Given the description of an element on the screen output the (x, y) to click on. 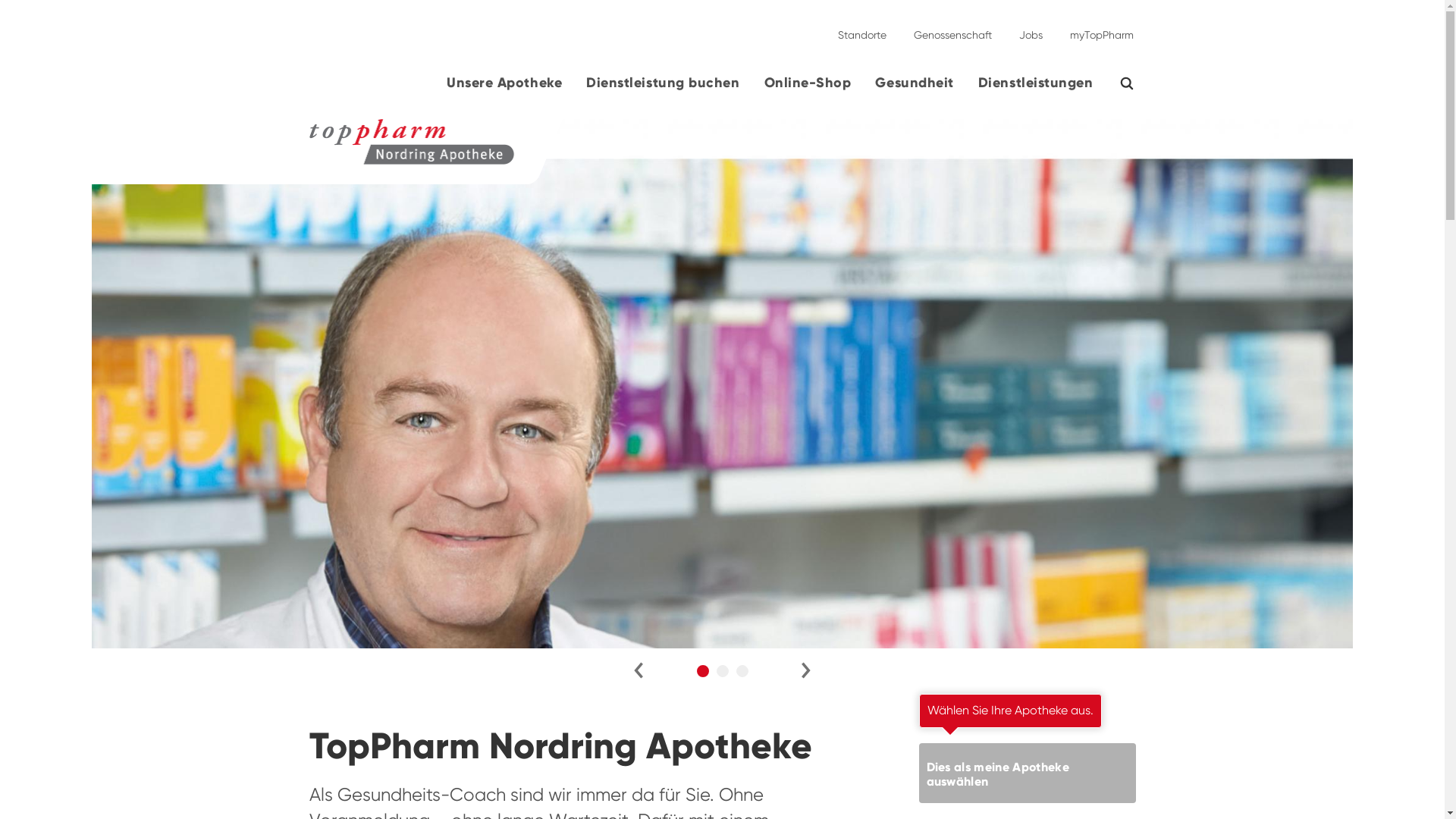
Gesundheit Element type: text (913, 88)
Jobs Element type: text (1030, 29)
Genossenschaft Element type: text (951, 29)
Suche Element type: text (1135, 82)
TopPharm Nordring Apotheke - Bern Element type: hover (412, 141)
Dienstleistung buchen Element type: text (662, 88)
myTopPharm Element type: text (1096, 29)
Dienstleistungen Element type: text (1035, 88)
Unsere Apotheke Element type: text (504, 88)
Online-Shop Element type: text (807, 88)
Standorte Element type: text (861, 29)
TopPharm Nordring Apotheke - Bern Element type: text (258, 151)
